Given the description of an element on the screen output the (x, y) to click on. 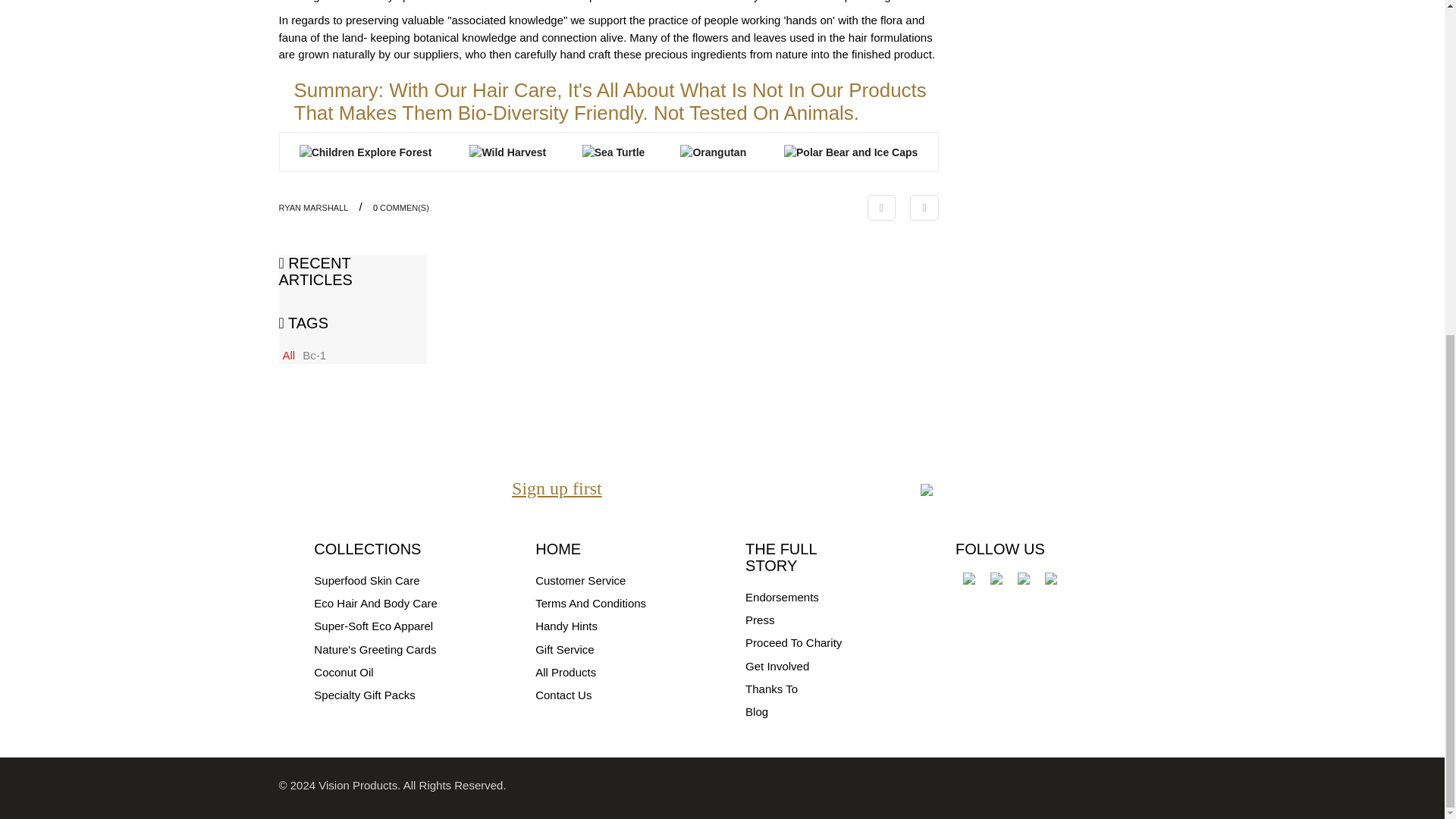
Visa (1009, 787)
Narrow search to articles also having tag bc-1 (314, 354)
Previous Article (881, 207)
Next Article (923, 207)
Moneybookers (1147, 787)
Paypal (1101, 787)
Mastercard (1040, 787)
